Given the description of an element on the screen output the (x, y) to click on. 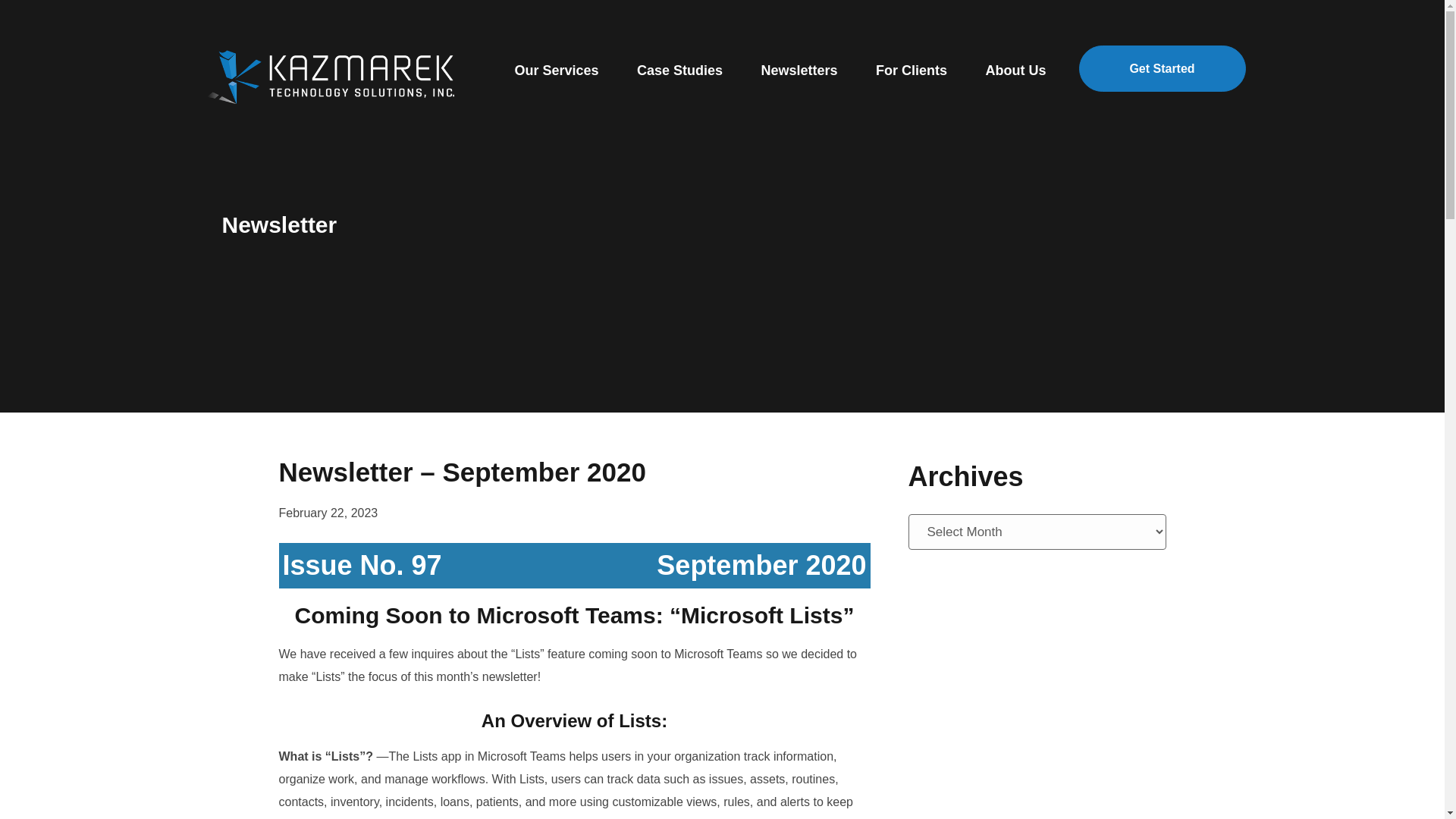
Kazmarek (333, 74)
Case Studies (679, 70)
About Us (1015, 70)
For Clients (911, 70)
Newsletters (800, 70)
Get Started (1161, 68)
Our Services (555, 70)
